Given the description of an element on the screen output the (x, y) to click on. 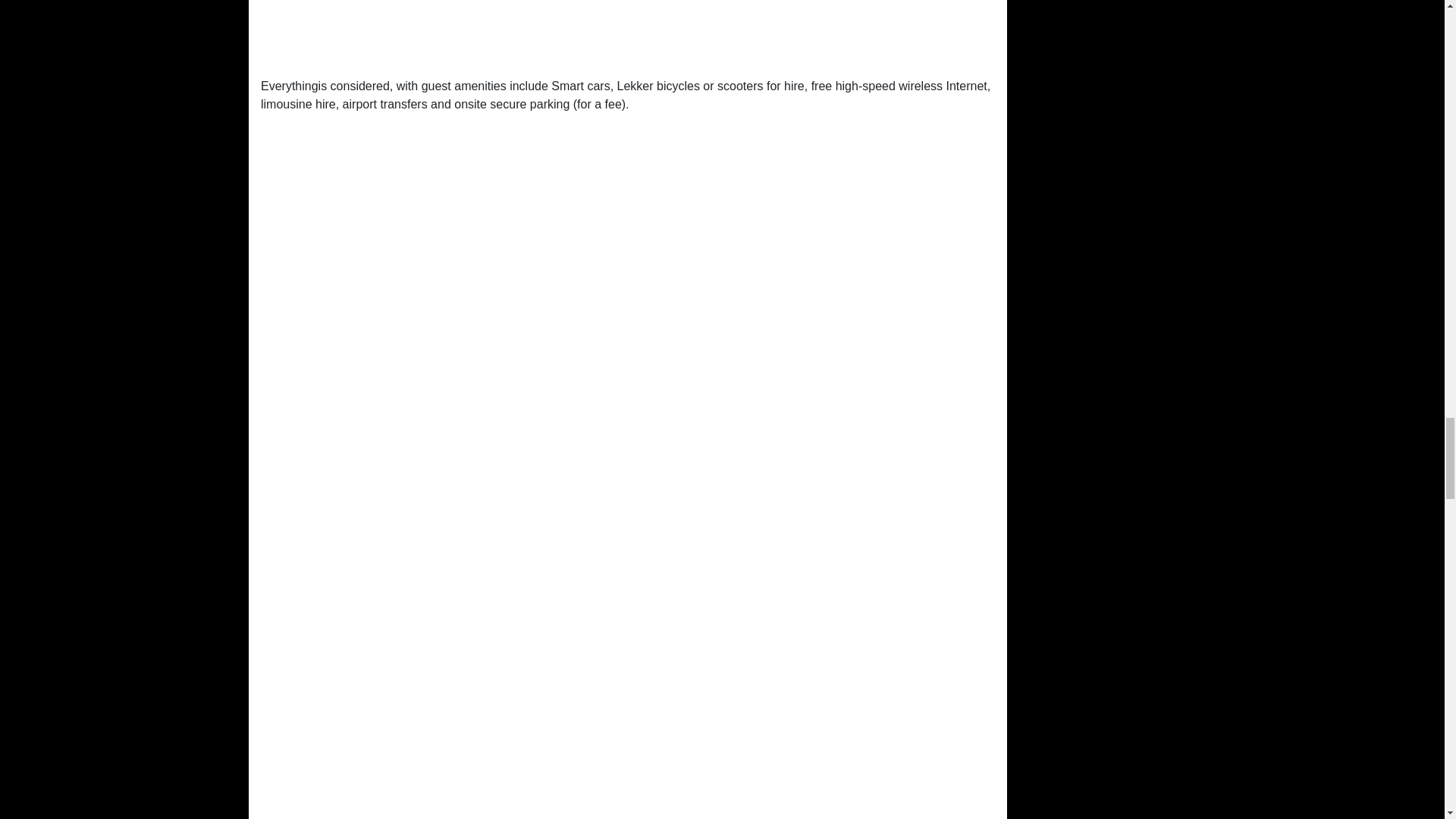
Crystalbrook Vincent Brisbane (627, 32)
